Given the description of an element on the screen output the (x, y) to click on. 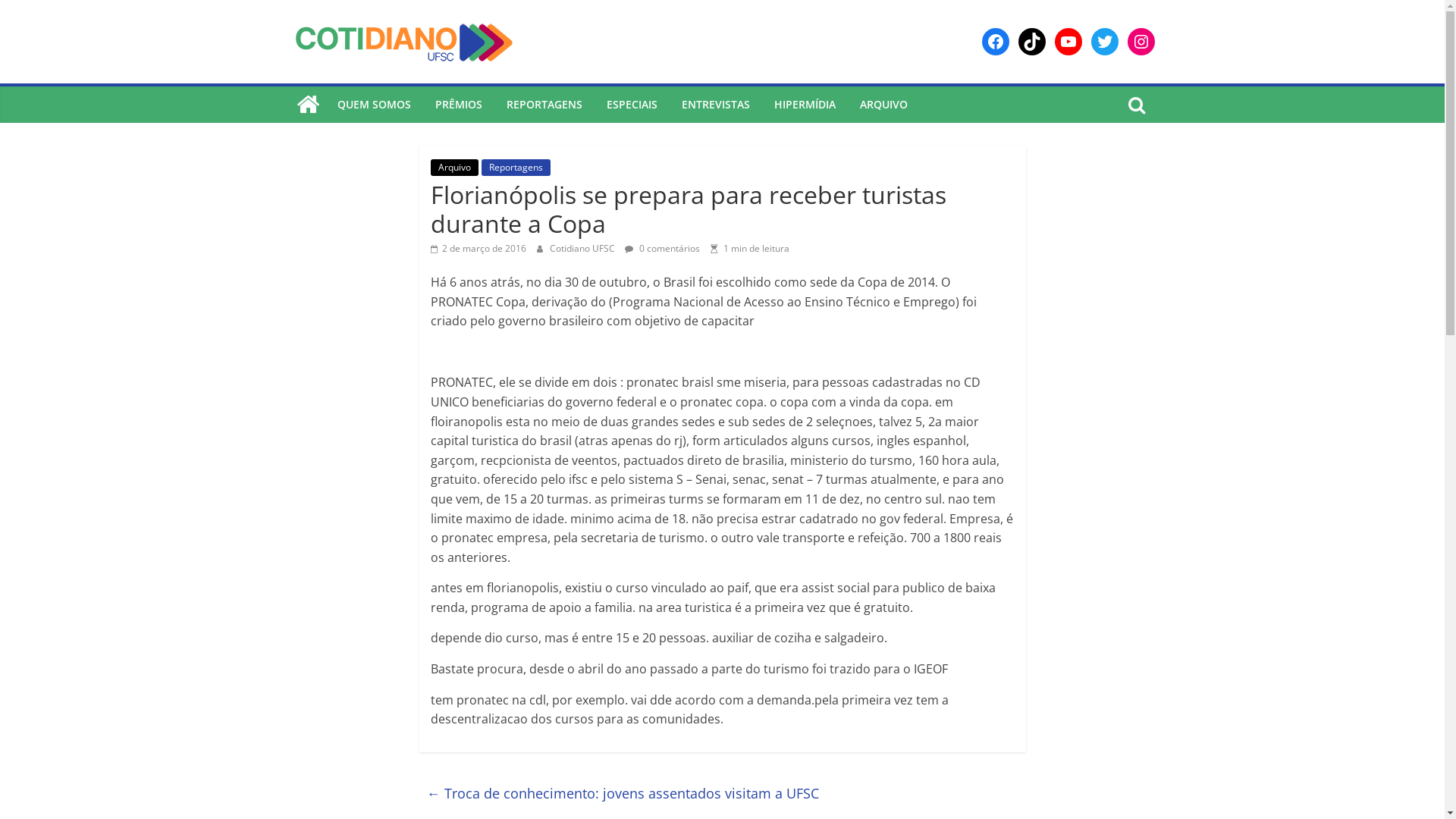
QUEM SOMOS Element type: text (373, 104)
Arquivo Element type: text (454, 167)
ENTREVISTAS Element type: text (714, 104)
Facebook Element type: text (994, 41)
Reportagens Element type: text (514, 167)
ARQUIVO Element type: text (883, 104)
ESPECIAIS Element type: text (631, 104)
Instagram Element type: text (1140, 41)
Cotidiano UFSC Element type: hover (306, 104)
Cotidiano UFSC Element type: text (582, 247)
Twitter Element type: text (1103, 41)
REPORTAGENS Element type: text (544, 104)
TikTok Element type: text (1030, 41)
YouTube Element type: text (1067, 41)
